Given the description of an element on the screen output the (x, y) to click on. 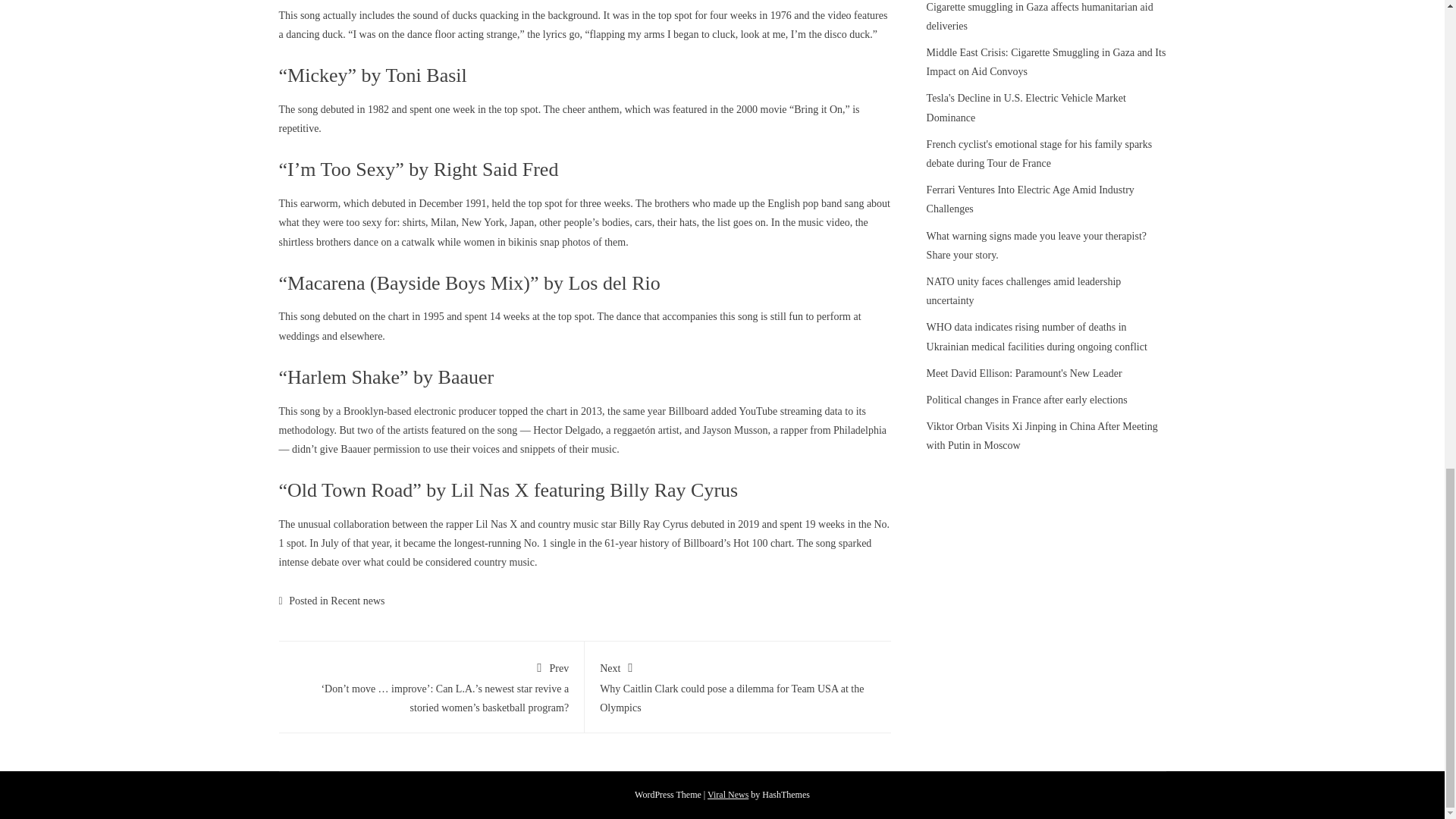
Recent news (357, 600)
top spot for four weeks (707, 15)
spent one week (441, 109)
19 weeks (825, 523)
held the top spot (527, 203)
debuted on the chart (366, 316)
the same year Billboard added (671, 410)
